Given the description of an element on the screen output the (x, y) to click on. 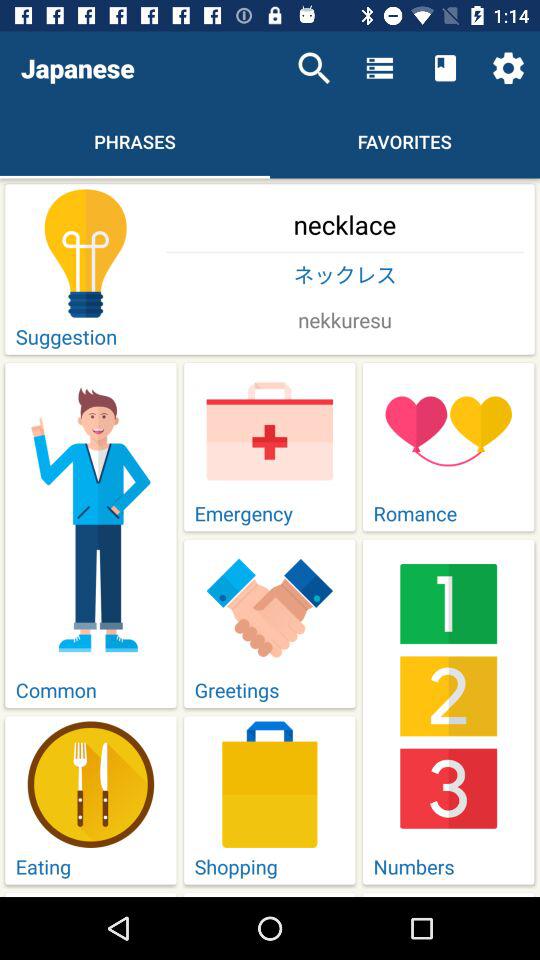
turn on item above the necklace (508, 67)
